Given the description of an element on the screen output the (x, y) to click on. 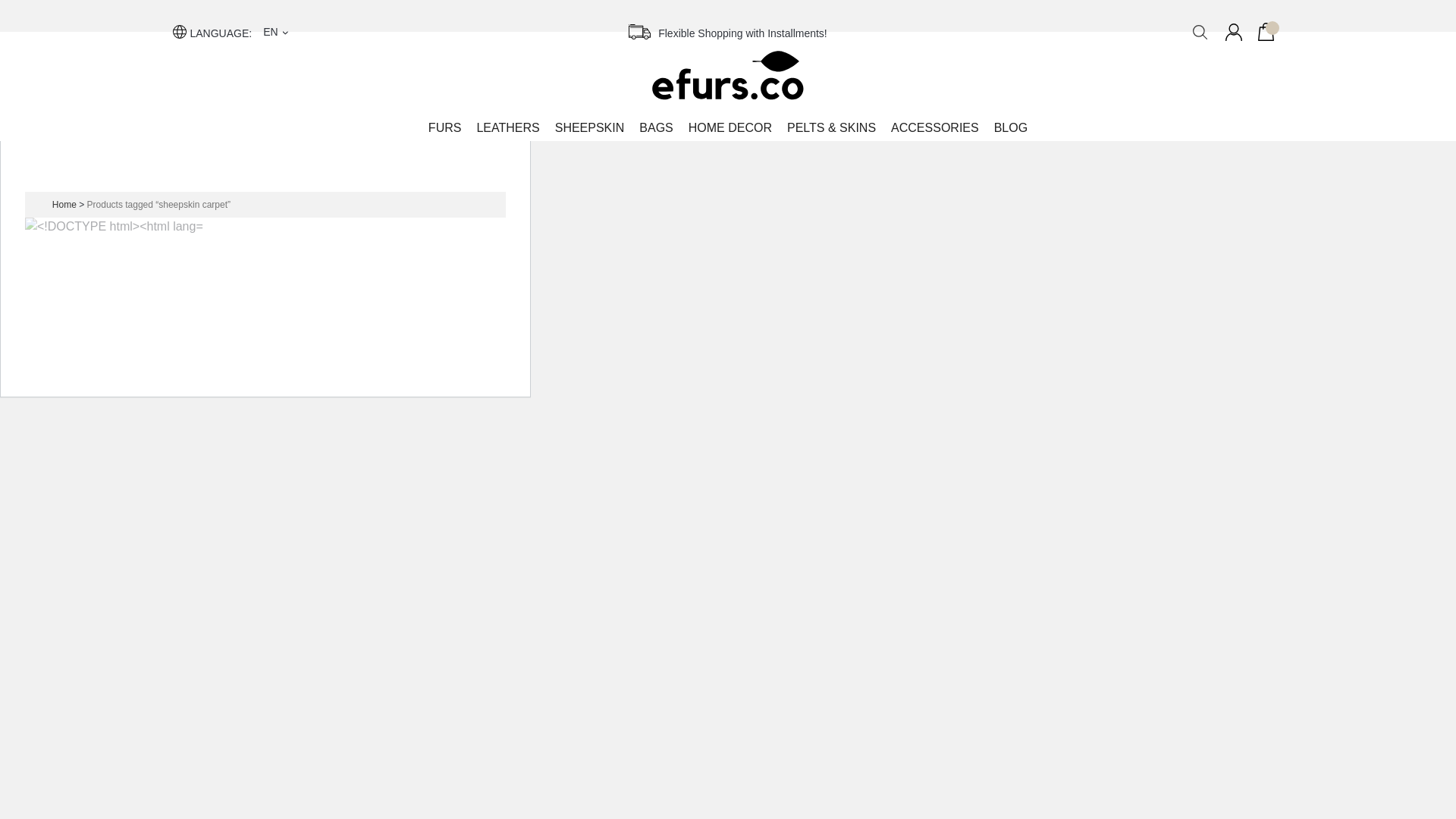
FURS (444, 127)
EN (276, 31)
